Given the description of an element on the screen output the (x, y) to click on. 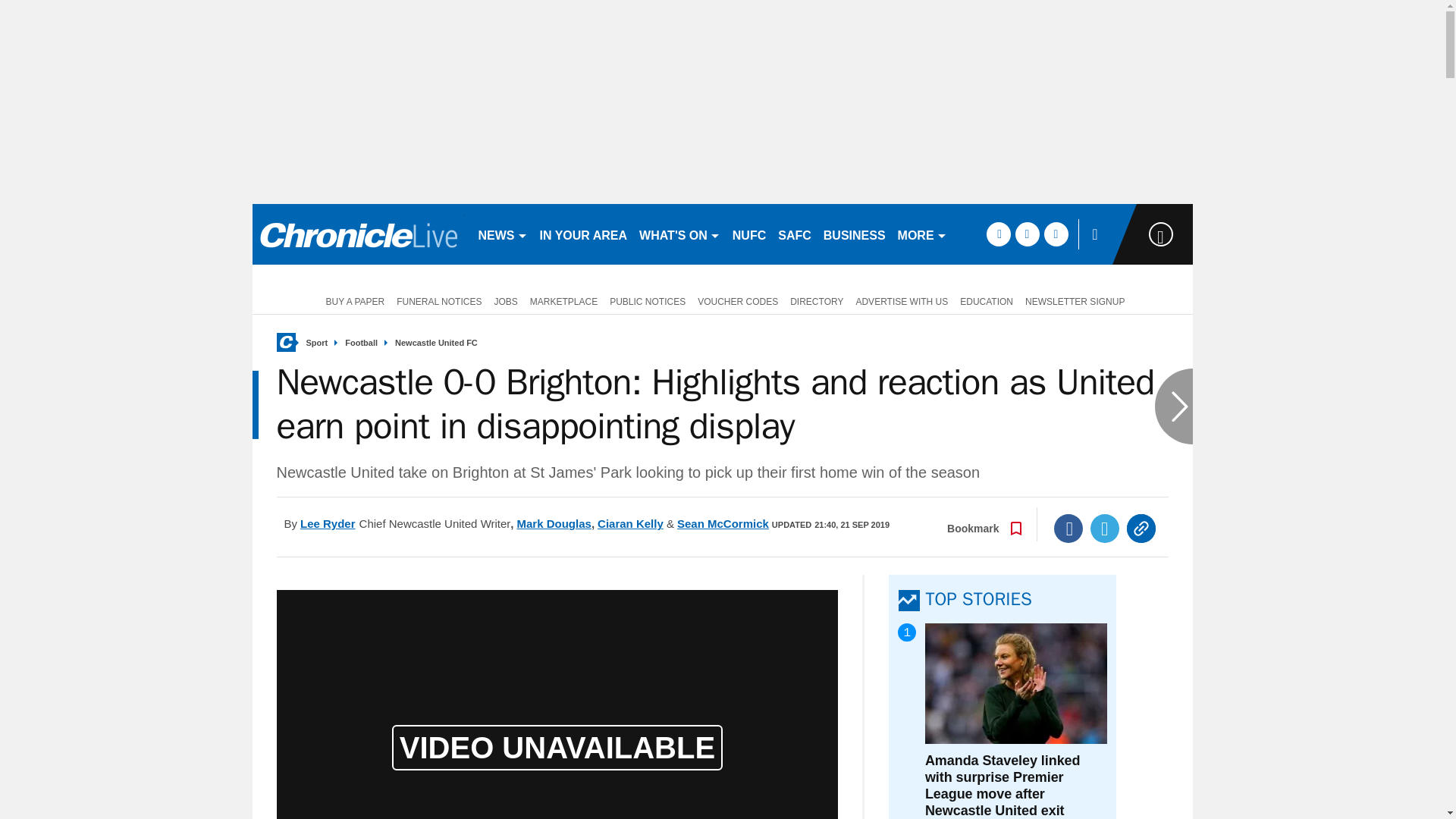
Facebook (1068, 528)
NEWS (501, 233)
MORE (922, 233)
twitter (1026, 233)
BUSINESS (853, 233)
instagram (1055, 233)
nechronicle (357, 233)
IN YOUR AREA (583, 233)
Twitter (1104, 528)
facebook (997, 233)
WHAT'S ON (679, 233)
